Given the description of an element on the screen output the (x, y) to click on. 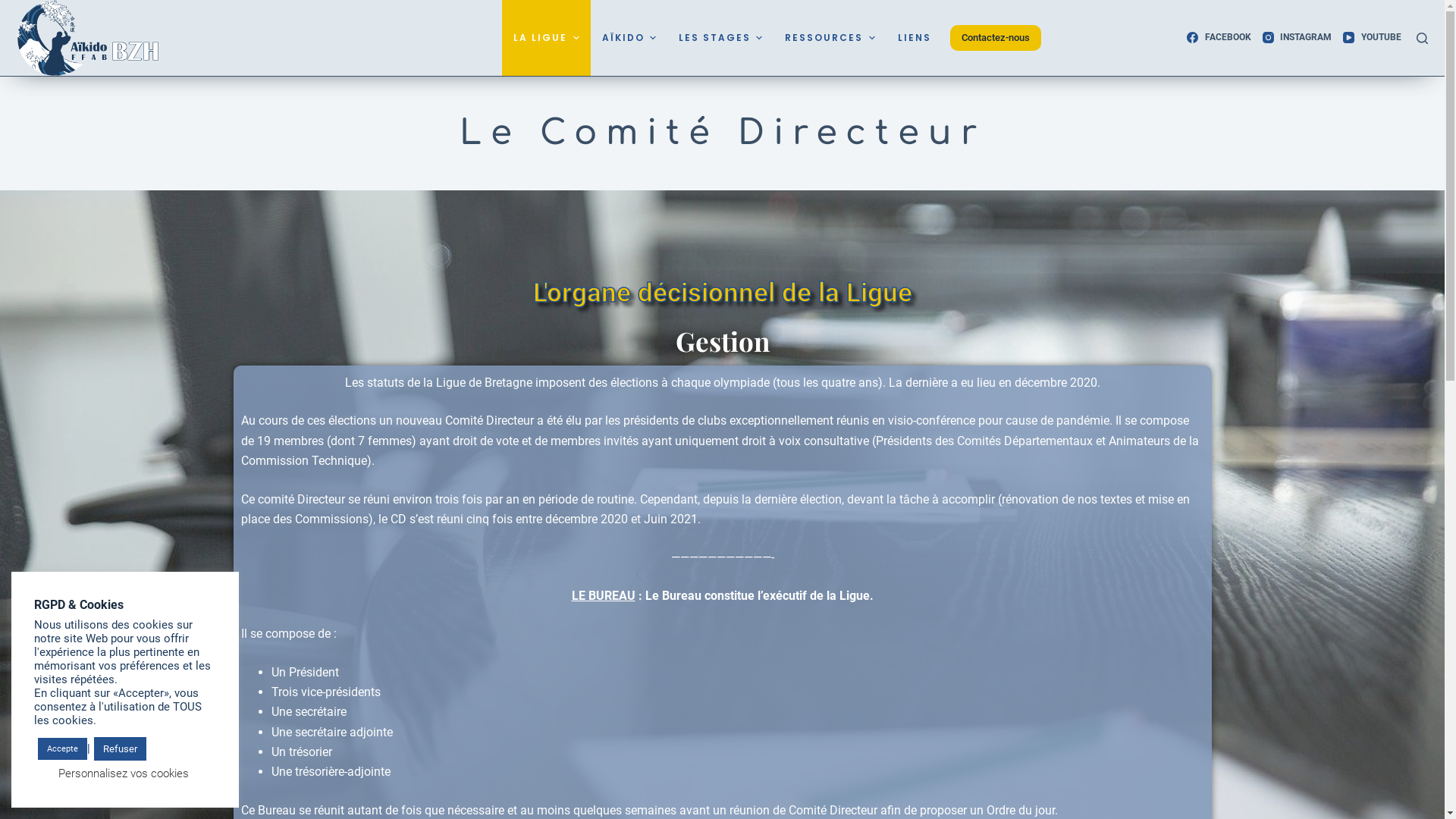
FACEBOOK Element type: text (1218, 37)
INSTAGRAM Element type: text (1296, 37)
LA LIGUE Element type: text (545, 37)
Refuser Element type: text (120, 748)
Personnalisez vos cookies Element type: text (122, 773)
LIENS Element type: text (914, 37)
RESSOURCES Element type: text (829, 37)
Contactez-nous Element type: text (995, 37)
LES STAGES Element type: text (720, 37)
YOUTUBE Element type: text (1371, 37)
Passer au contenu Element type: text (15, 7)
Accepte Element type: text (62, 748)
